Given the description of an element on the screen output the (x, y) to click on. 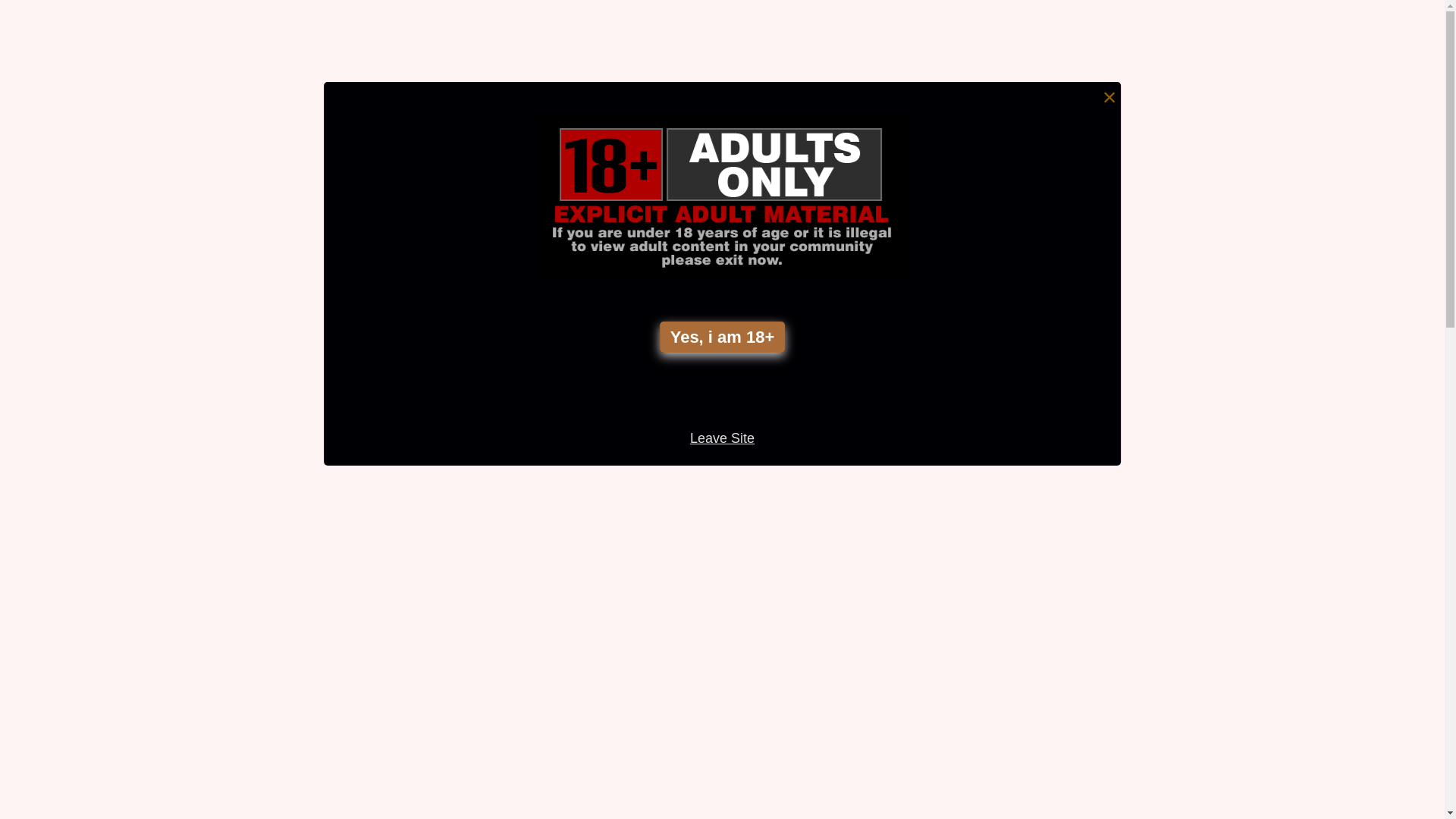
Single swingers Milwaukee Element type: text (1196, 269)
Southwest Missouri swinger Element type: text (1199, 460)
Really horny Element type: text (1148, 515)
Girls Mccomb Element type: text (1152, 242)
Naked Arrowhead housewives Element type: text (1207, 105)
Show me women whoare horny geil fuck women. Element type: hover (927, 327)
Naked women Johnson City Element type: text (1199, 433)
Hot what is hot hairy average women fuck women. Element type: hover (571, 317)
Battle Creek Element type: text (1148, 542)
Yes, i am 18+ Element type: text (722, 336)
Facebook Element type: text (1256, 604)
Dating Element type: text (1128, 132)
Online dating sites swingers Element type: text (1199, 186)
Home Element type: text (490, 89)
Girls likes Sandy, Oregon Element type: text (1190, 351)
Horny pharoah pussy black malebe fuck women. Element type: hover (215, 341)
Chat Element type: hover (946, 472)
Members Area Element type: text (561, 89)
Leave Site Element type: text (722, 437)
Horny wives number Element type: text (1175, 378)
Girls looking Sturgis Element type: text (1173, 159)
Fucking women Element type: text (1159, 488)
Black sluts Vallejo Element type: text (1166, 77)
Housewife Pearland Element type: text (1173, 406)
Chat Element type: hover (234, 519)
Michigan clubs Element type: text (1156, 215)
Girls Visalia Element type: text (1146, 296)
Chat Element type: hover (590, 471)
Local married people Florida Element type: text (1201, 324)
